Given the description of an element on the screen output the (x, y) to click on. 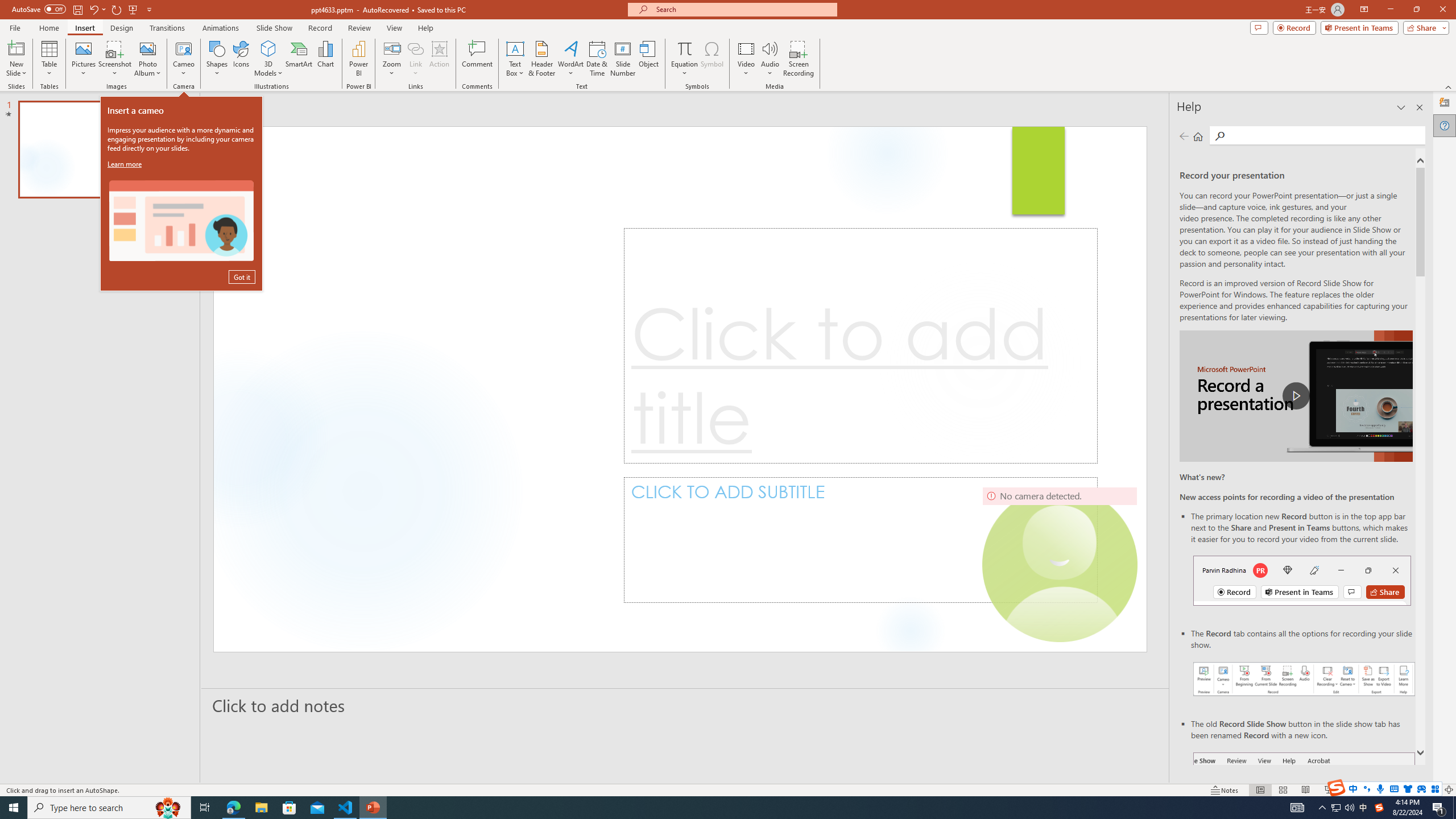
Equation (683, 58)
Link (415, 48)
Got it (241, 277)
Power BI (358, 58)
Icons (240, 58)
Screen Recording... (798, 58)
